Given the description of an element on the screen output the (x, y) to click on. 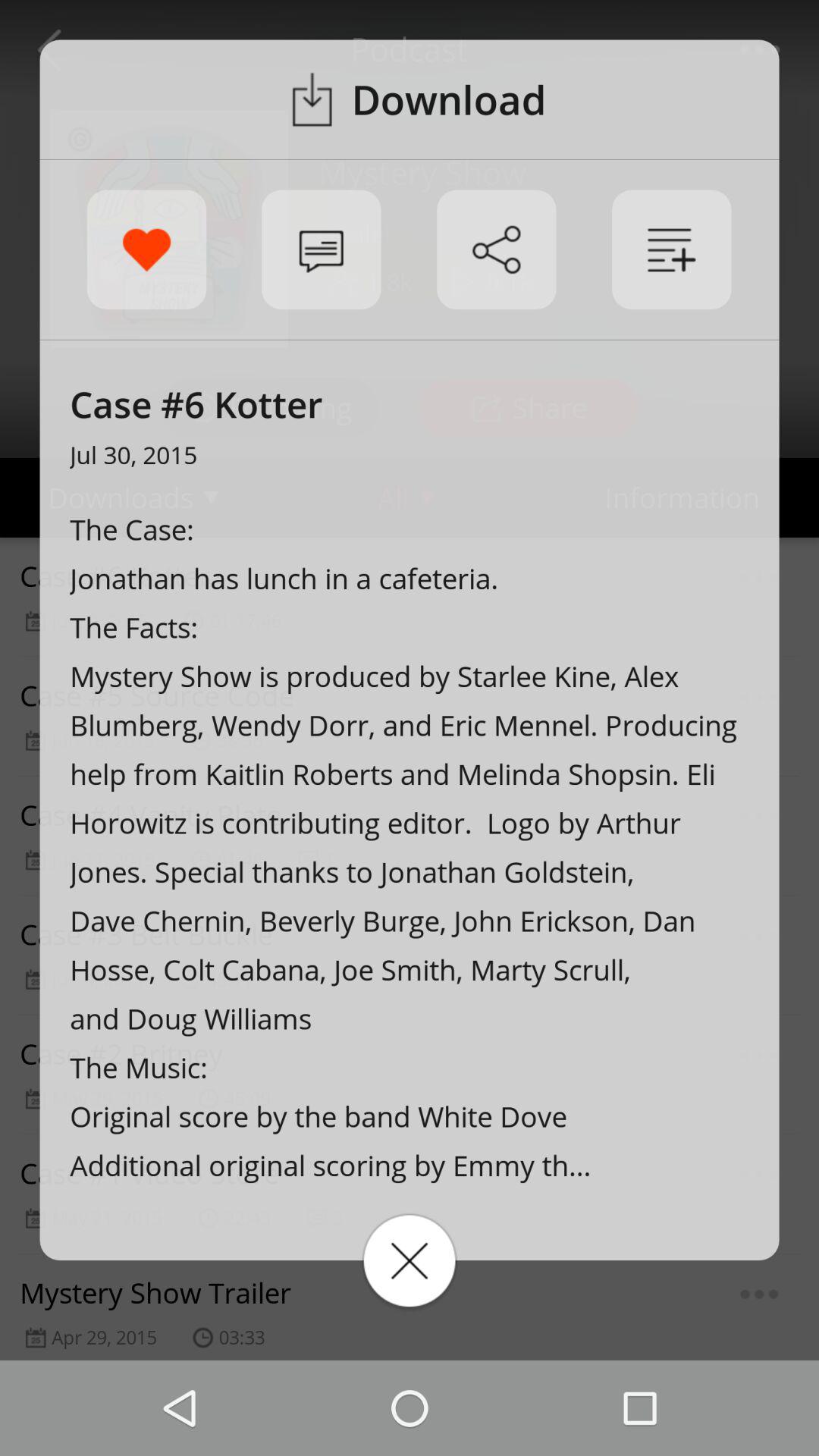
close text box (409, 1260)
